Given the description of an element on the screen output the (x, y) to click on. 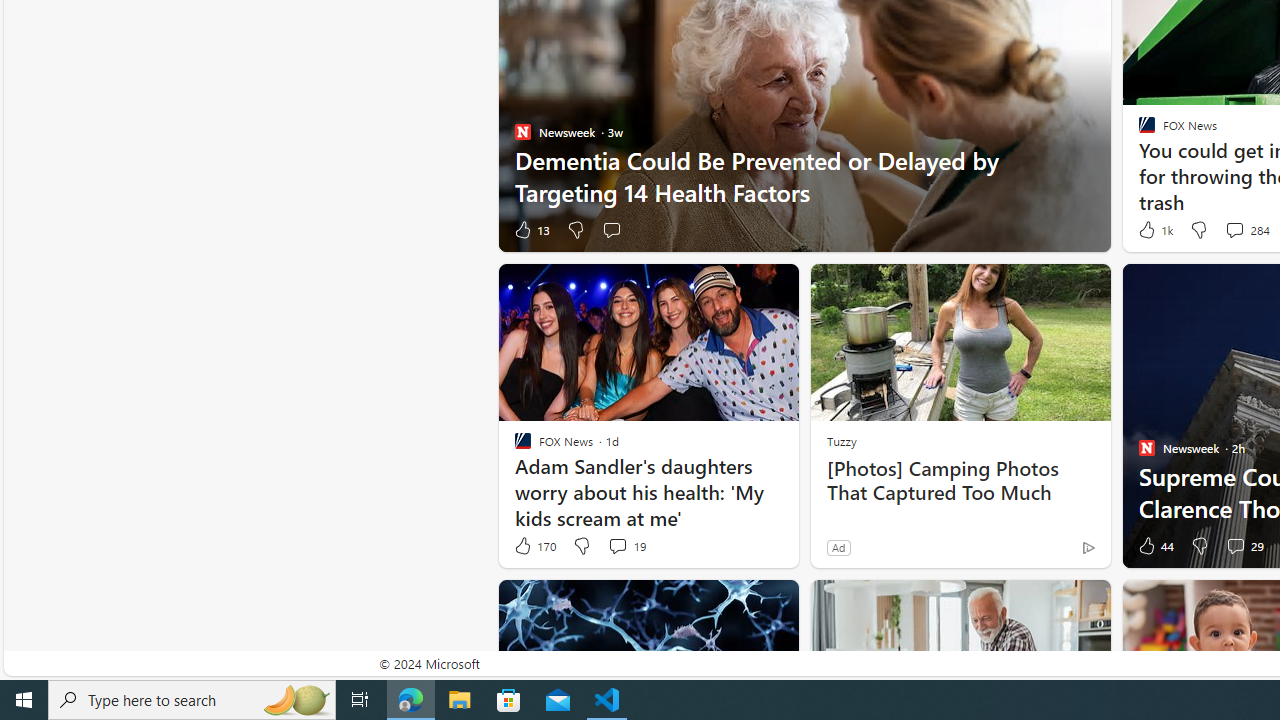
View comments 19 Comment (617, 545)
View comments 29 Comment (1244, 546)
View comments 19 Comment (626, 546)
44 Like (1154, 546)
